Given the description of an element on the screen output the (x, y) to click on. 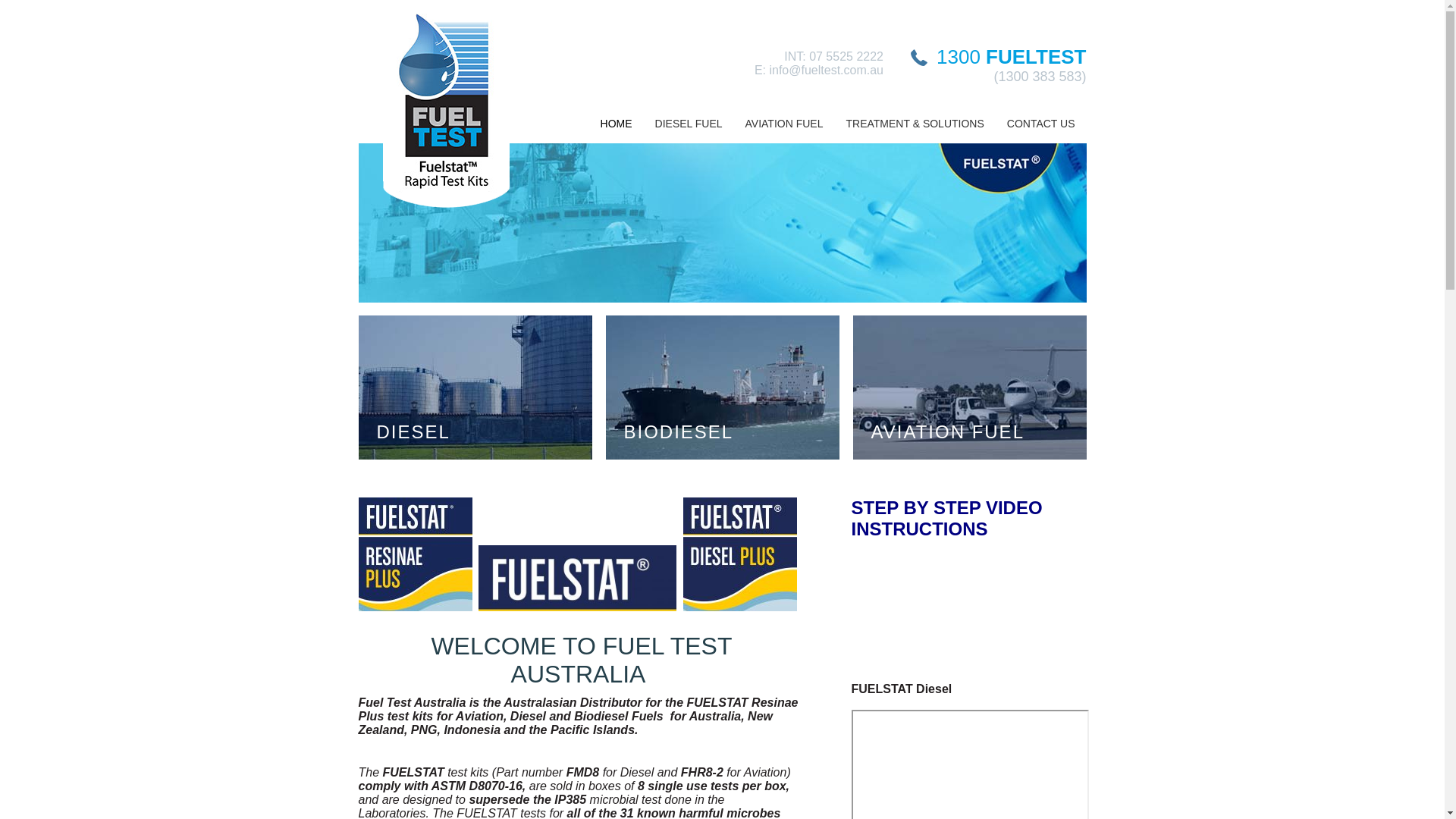
1300 FUELTEST Element type: text (1010, 56)
AVIATION FUEL Element type: text (977, 431)
Fuel Test Australia Element type: text (445, 109)
BIODIESEL Element type: text (730, 431)
TREATMENT & SOLUTIONS Element type: text (914, 127)
CONTACT US Element type: text (1040, 127)
AVIATION FUEL Element type: text (784, 127)
DIESEL Element type: text (483, 431)
HOME Element type: text (616, 127)
info@fueltest.com.au Element type: text (825, 69)
DIESEL FUEL Element type: text (688, 127)
